Given the description of an element on the screen output the (x, y) to click on. 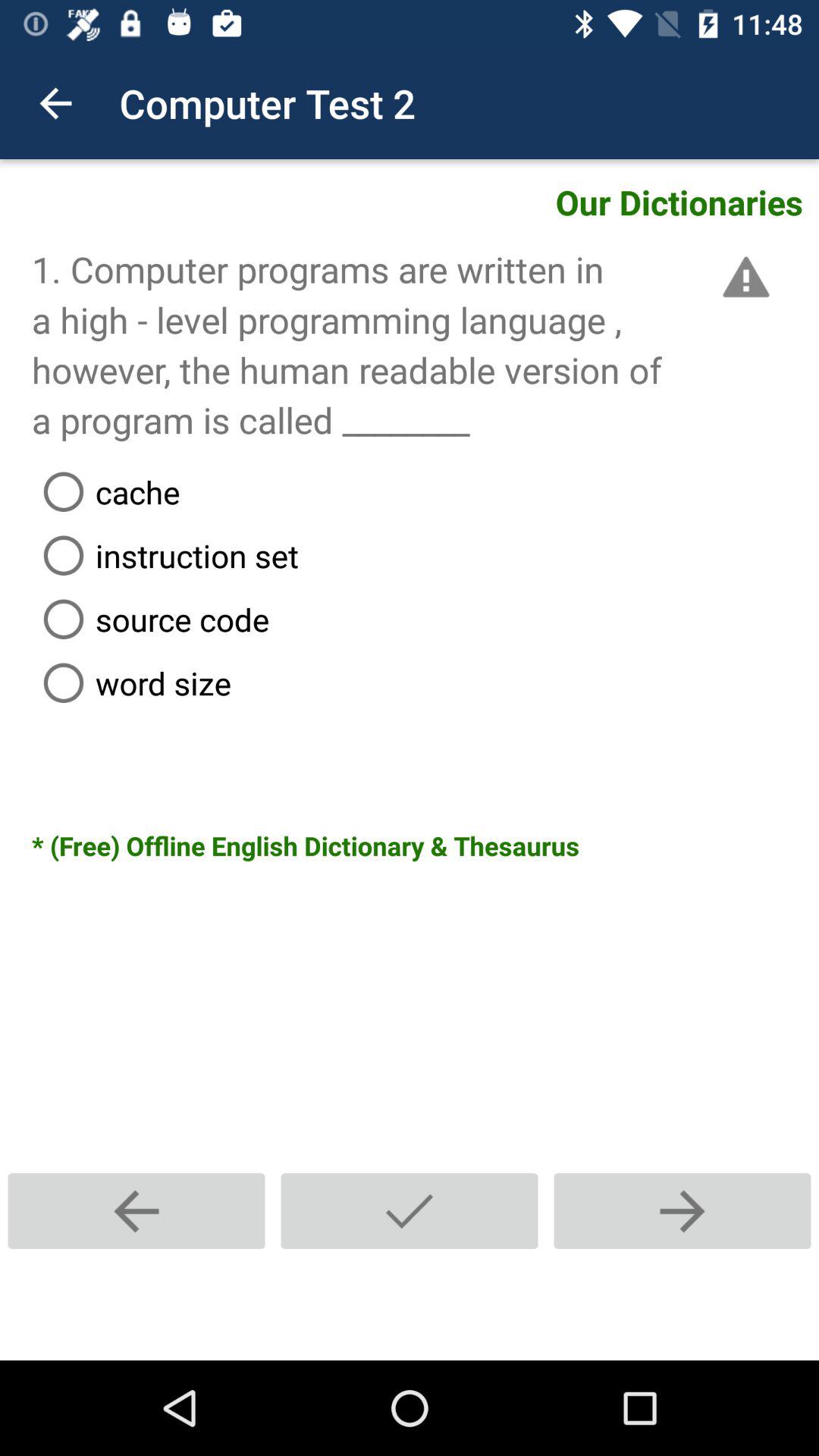
launch item next to the 1 computer programs item (743, 276)
